Given the description of an element on the screen output the (x, y) to click on. 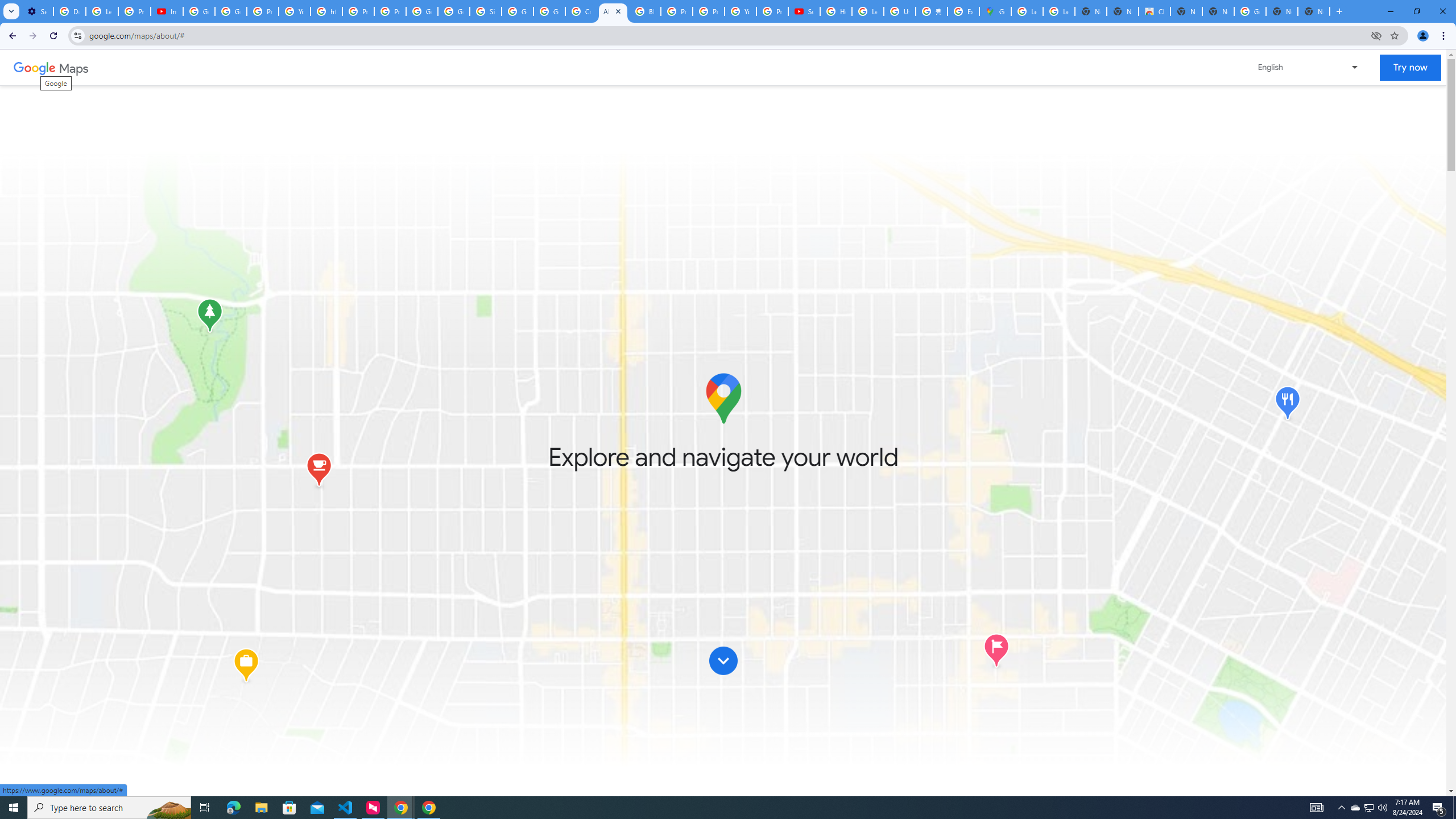
YouTube (294, 11)
Privacy Help Center - Policies Help (676, 11)
Delete photos & videos - Computer - Google Photos Help (69, 11)
Google Account Help (198, 11)
Google Maps logo (722, 398)
Google Images (1249, 11)
Sign in - Google Accounts (485, 11)
Try now (1409, 67)
YouTube (740, 11)
